Given the description of an element on the screen output the (x, y) to click on. 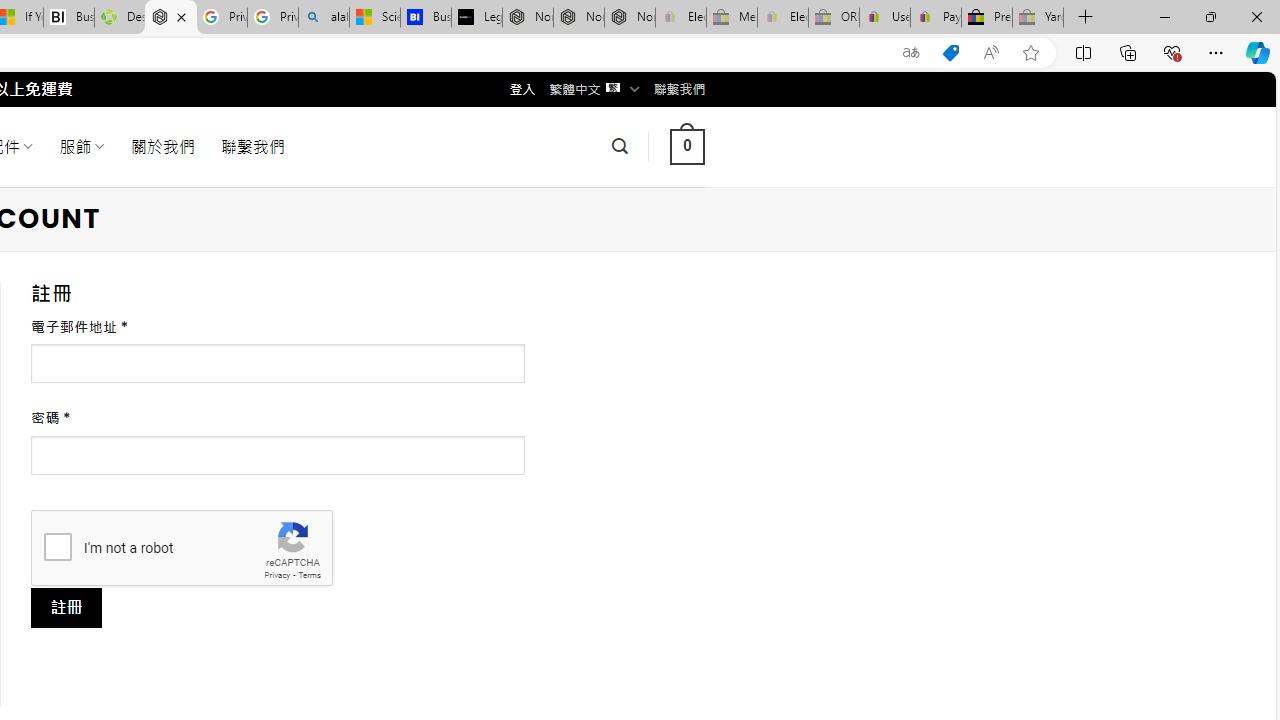
 0  (687, 146)
This site has coupons! Shopping in Microsoft Edge (950, 53)
alabama high school quarterback dies - Search (324, 17)
Show translate options (910, 53)
